Given the description of an element on the screen output the (x, y) to click on. 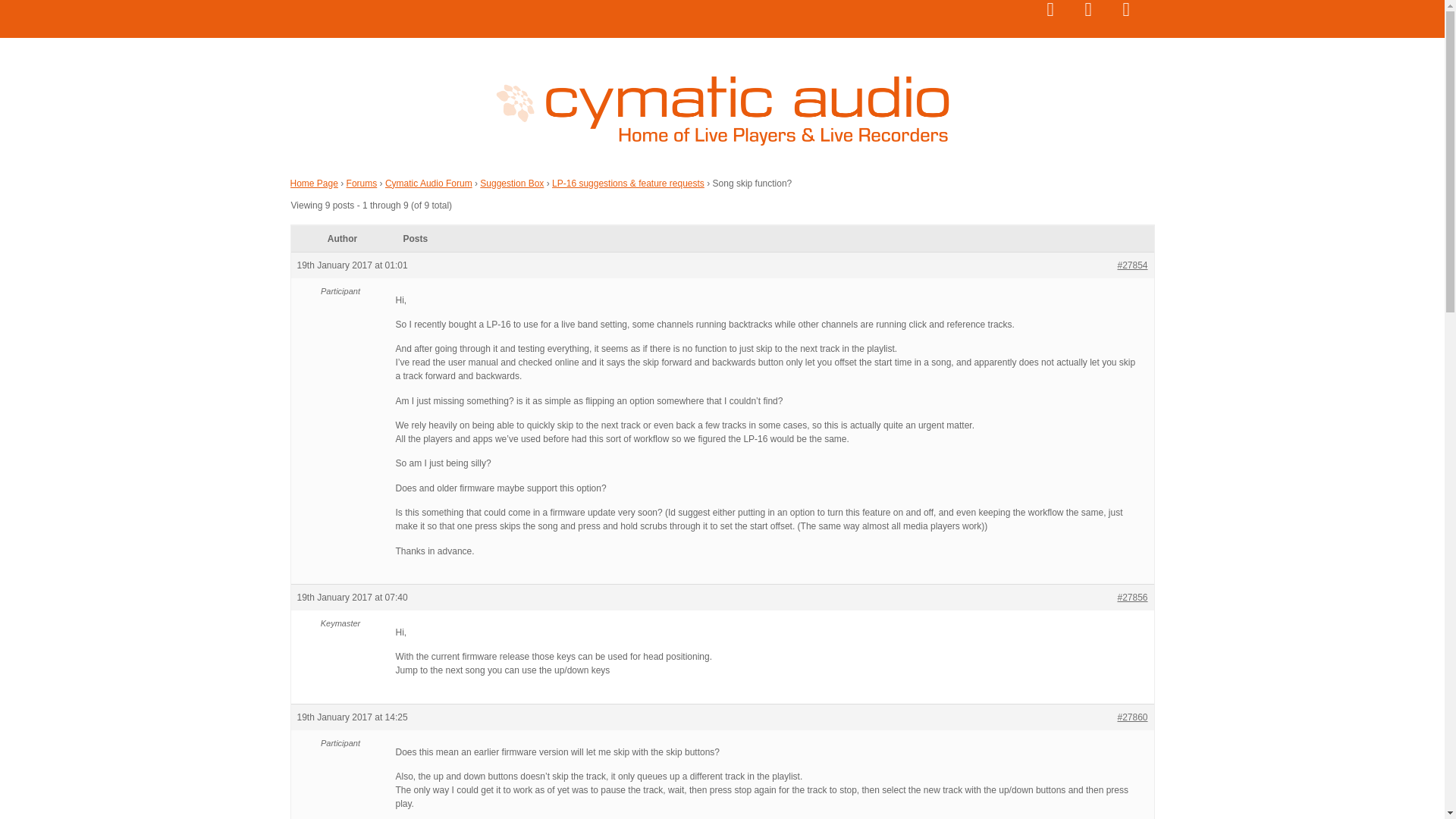
Cymatic Audio Forum (428, 182)
Suggestion Box (511, 182)
Forums (361, 182)
Home Page (313, 182)
